Given the description of an element on the screen output the (x, y) to click on. 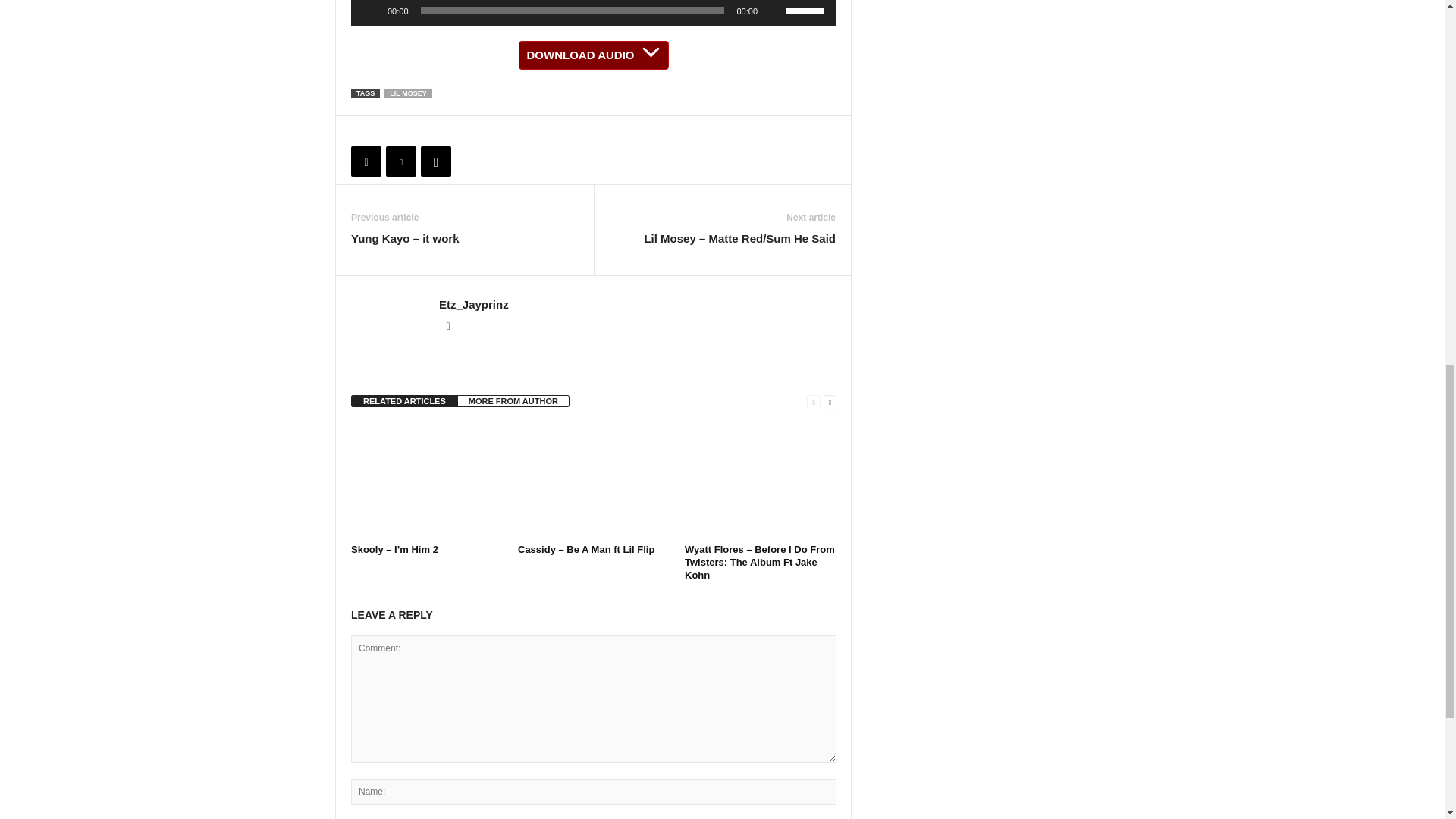
Facebook (365, 161)
Mute (774, 10)
Play (370, 10)
bottomFacebookLike (390, 131)
Twitter (400, 161)
